Given the description of an element on the screen output the (x, y) to click on. 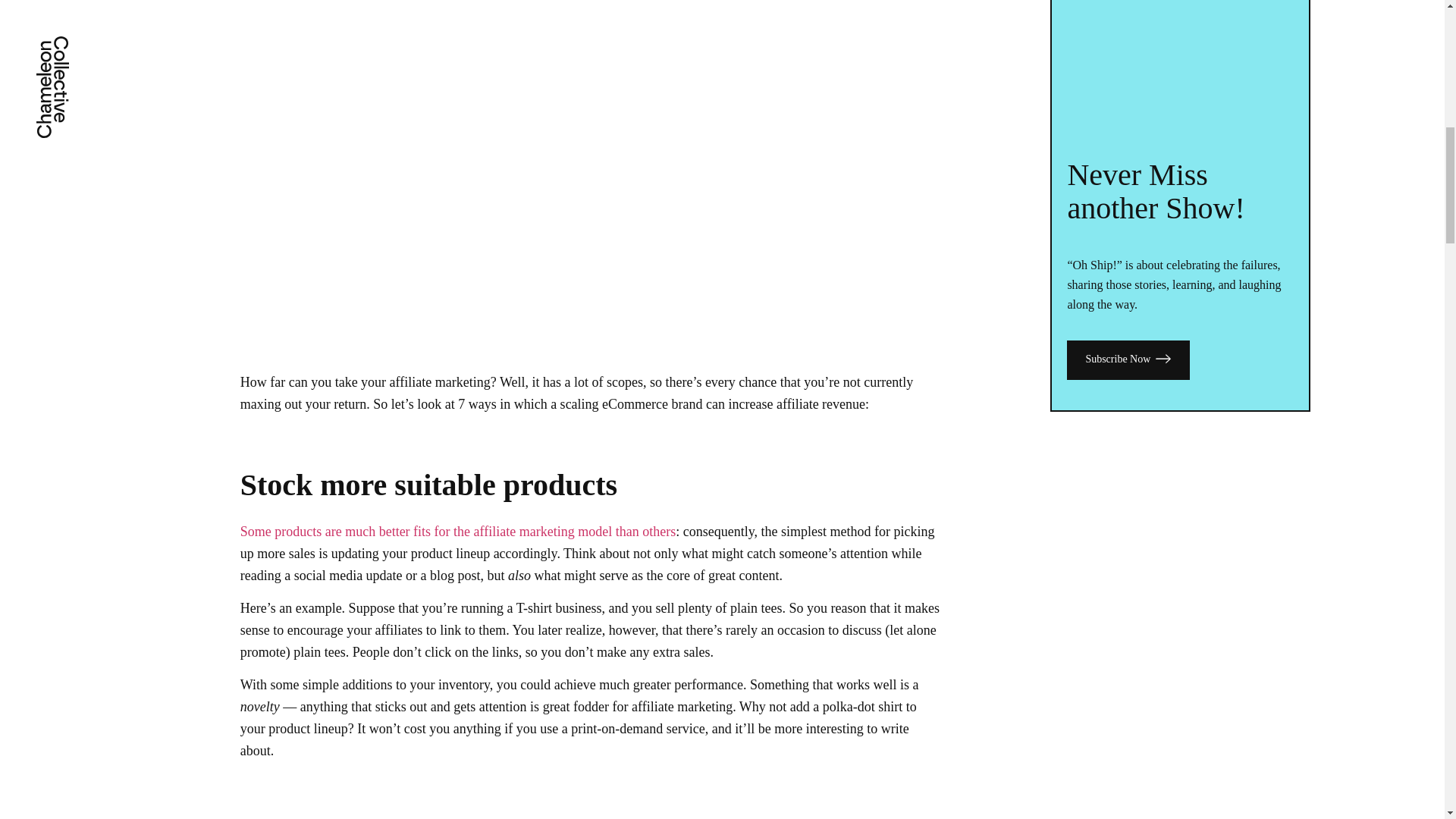
Subscribe Now (1128, 359)
